Given the description of an element on the screen output the (x, y) to click on. 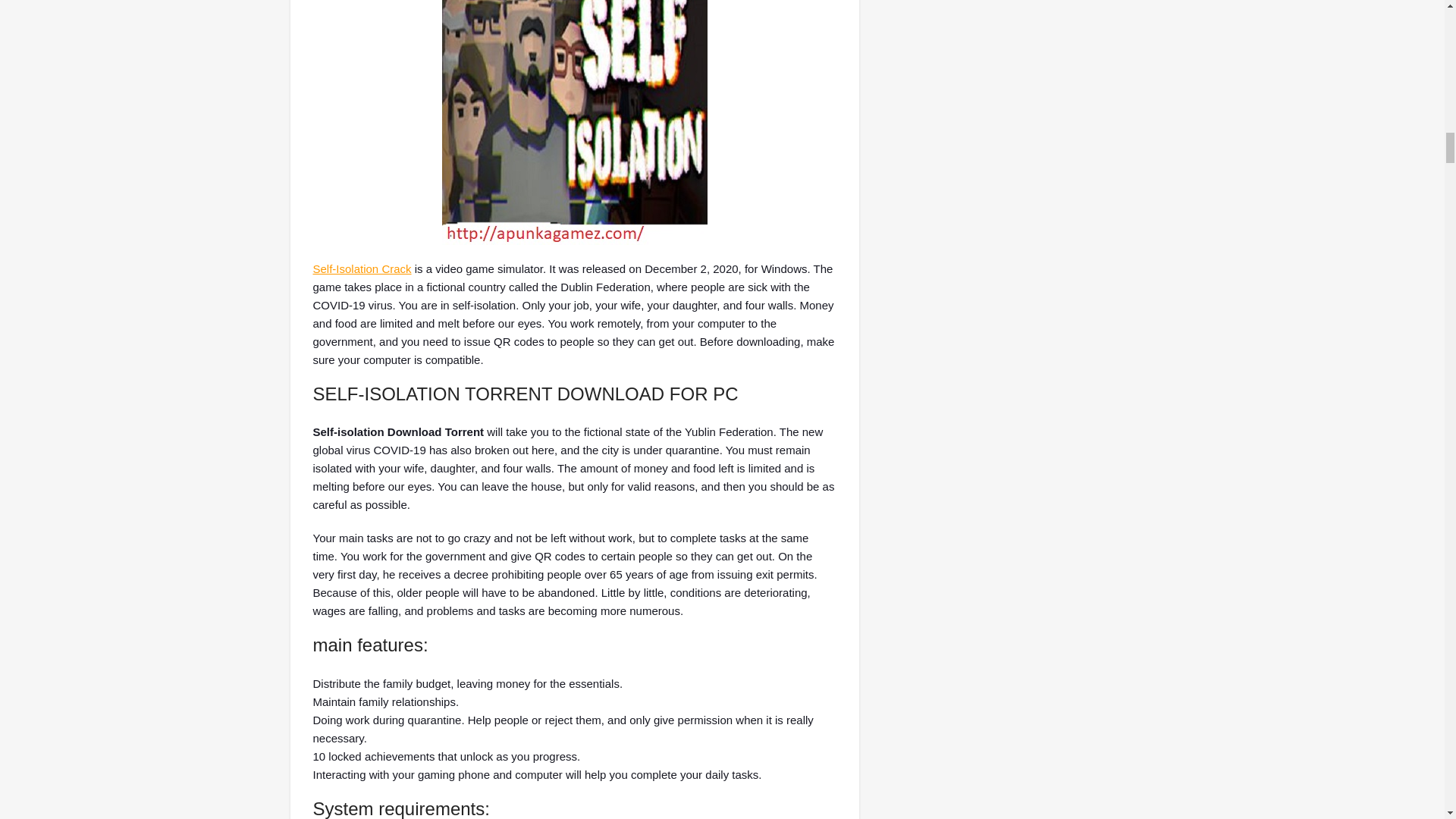
Self-Isolation Crack (361, 268)
